Given the description of an element on the screen output the (x, y) to click on. 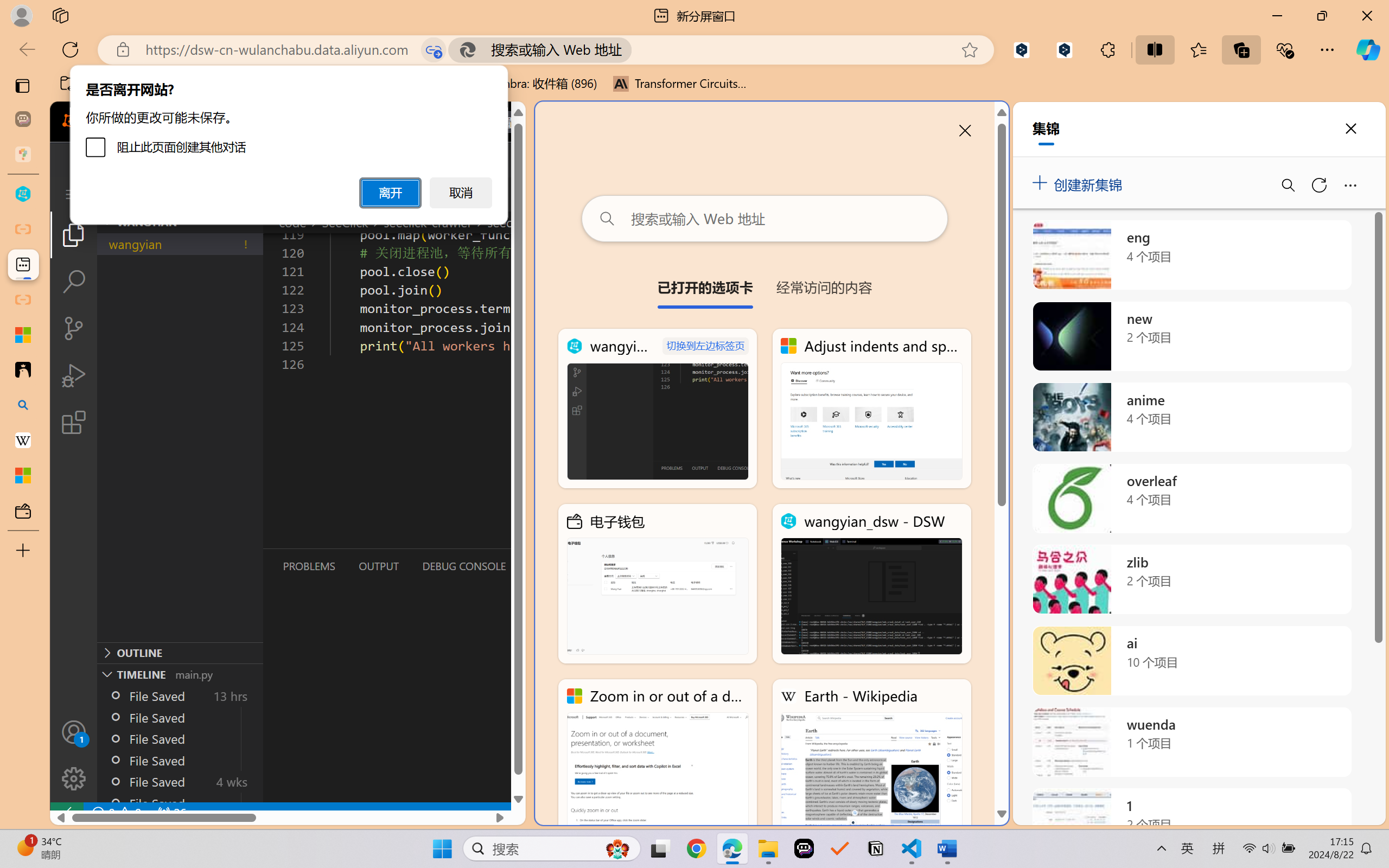
Accounts - Sign in requested (73, 732)
Timeline Section (179, 673)
Run and Debug (Ctrl+Shift+D) (73, 375)
wangyian_dsw - DSW (871, 583)
Terminal (Ctrl+`) (553, 565)
